Given the description of an element on the screen output the (x, y) to click on. 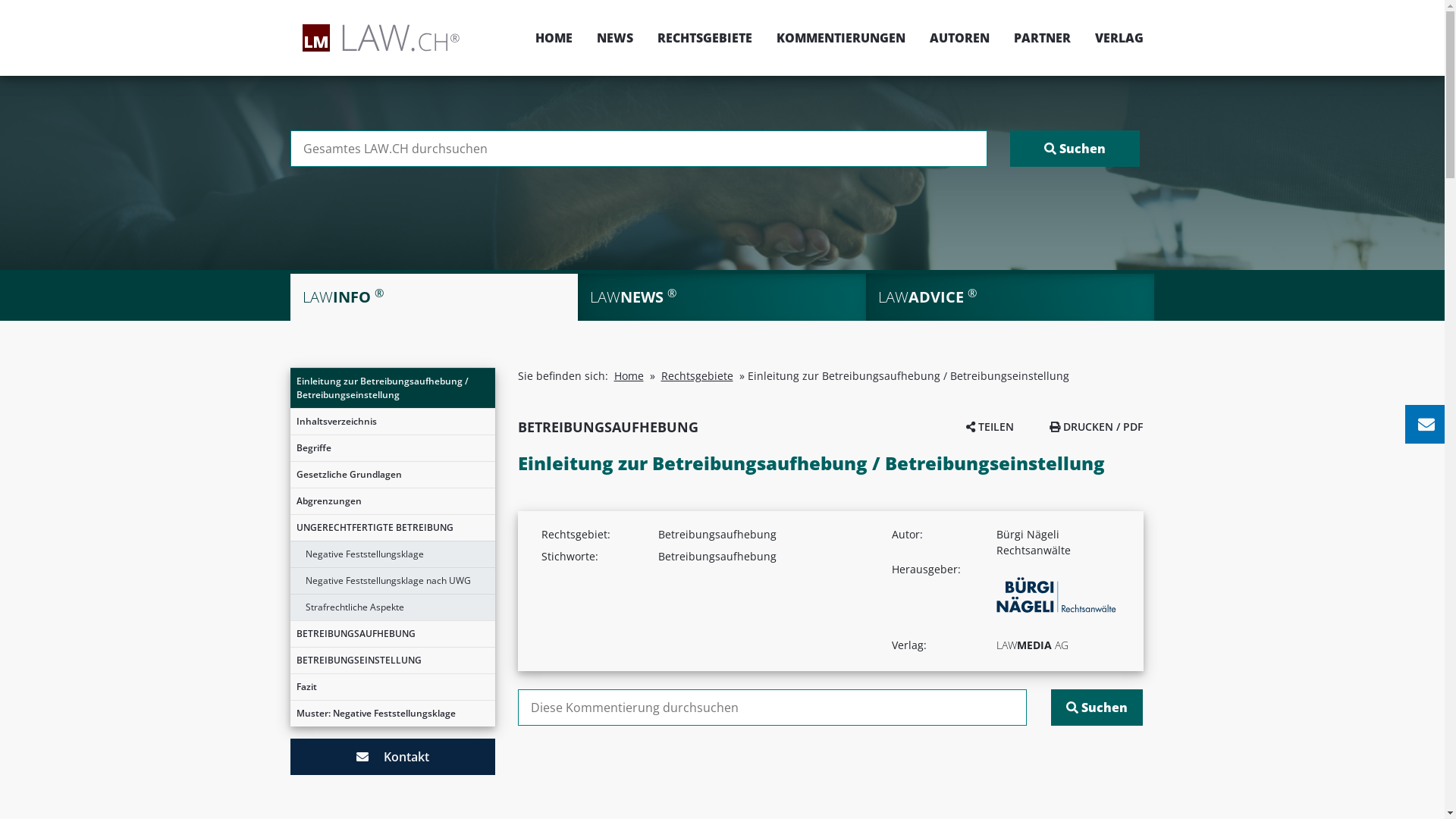
Negative Feststellungsklage Element type: text (391, 554)
VERLAG Element type: text (1112, 37)
BETREIBUNGSEINSTELLUNG Element type: text (391, 660)
Muster: Negative Feststellungsklage Element type: text (391, 713)
Negative Feststellungsklage nach UWG Element type: text (391, 580)
 DRUCKEN / PDF Element type: text (1095, 426)
PARTNER Element type: text (1041, 37)
UNGERECHTFERTIGTE BETREIBUNG Element type: text (391, 527)
Begriffe Element type: text (391, 448)
RECHTSGEBIETE Element type: text (703, 37)
Suchen nach: Element type: hover (771, 707)
Home Element type: text (628, 375)
AUTOREN Element type: text (959, 37)
Fazit Element type: text (391, 686)
BETREIBUNGSAUFHEBUNG Element type: text (391, 633)
NEWS Element type: text (613, 37)
Rechtsgebiete Element type: text (697, 375)
    Kontakt Element type: text (391, 756)
HOME Element type: text (553, 37)
Inhaltsverzeichnis Element type: text (391, 421)
Gesetzliche Grundlagen Element type: text (391, 474)
Einleitung zur Betreibungsaufhebung / Betreibungseinstellung Element type: text (391, 387)
 TEILEN Element type: text (989, 426)
Suchen nach: Element type: hover (637, 148)
KOMMENTIERUNGEN Element type: text (840, 37)
Strafrechtliche Aspekte Element type: text (391, 607)
Abgrenzungen Element type: text (391, 501)
